Given the description of an element on the screen output the (x, y) to click on. 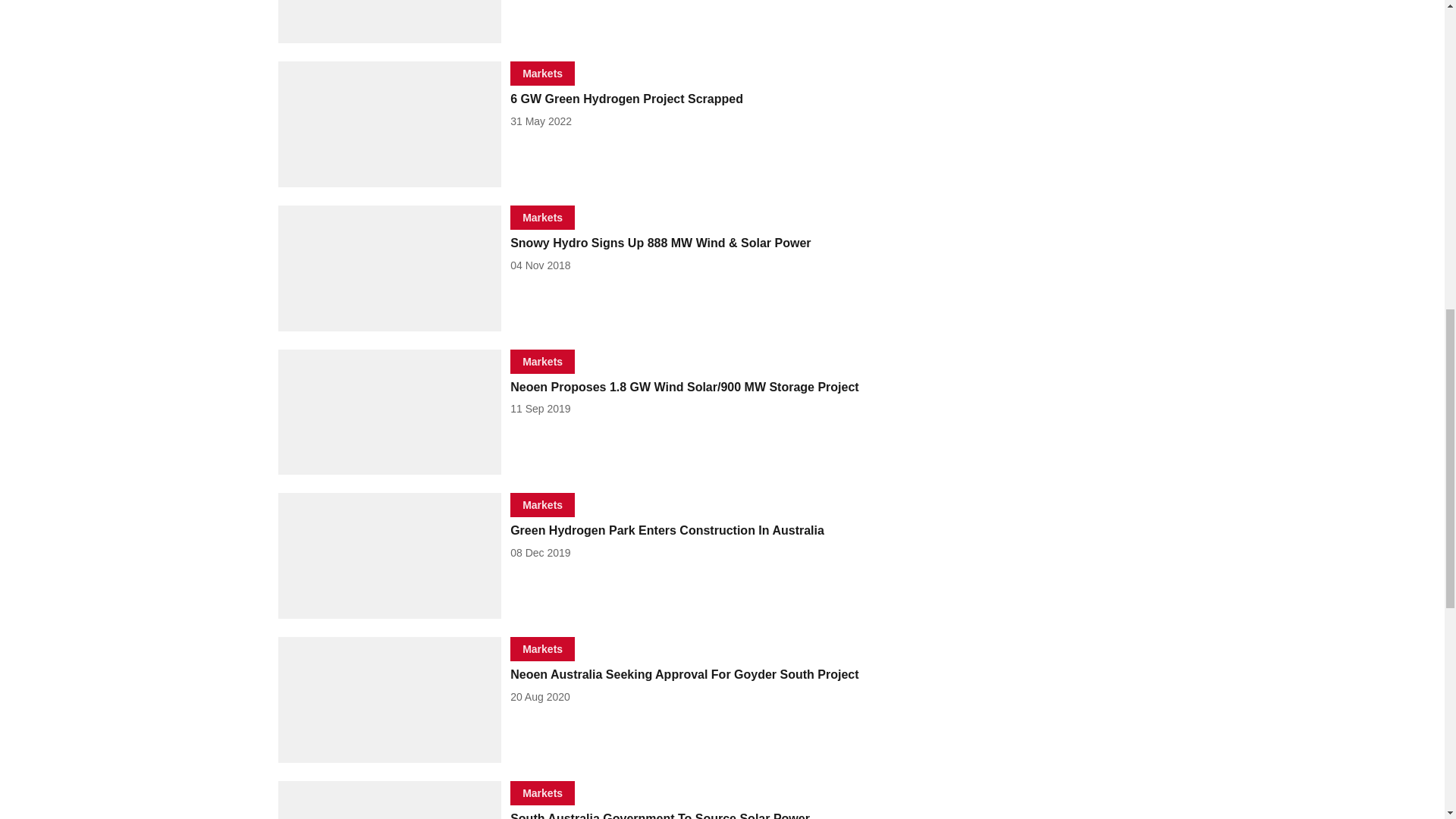
2019-12-08 07:31 (540, 552)
2020-08-20 12:57 (540, 696)
2022-05-31 14:11 (541, 121)
Markets (543, 72)
2019-09-11 22:36 (540, 408)
Markets (543, 216)
6 GW Green Hydrogen Project Scrapped (685, 99)
2018-11-04 20:20 (540, 265)
